Given the description of an element on the screen output the (x, y) to click on. 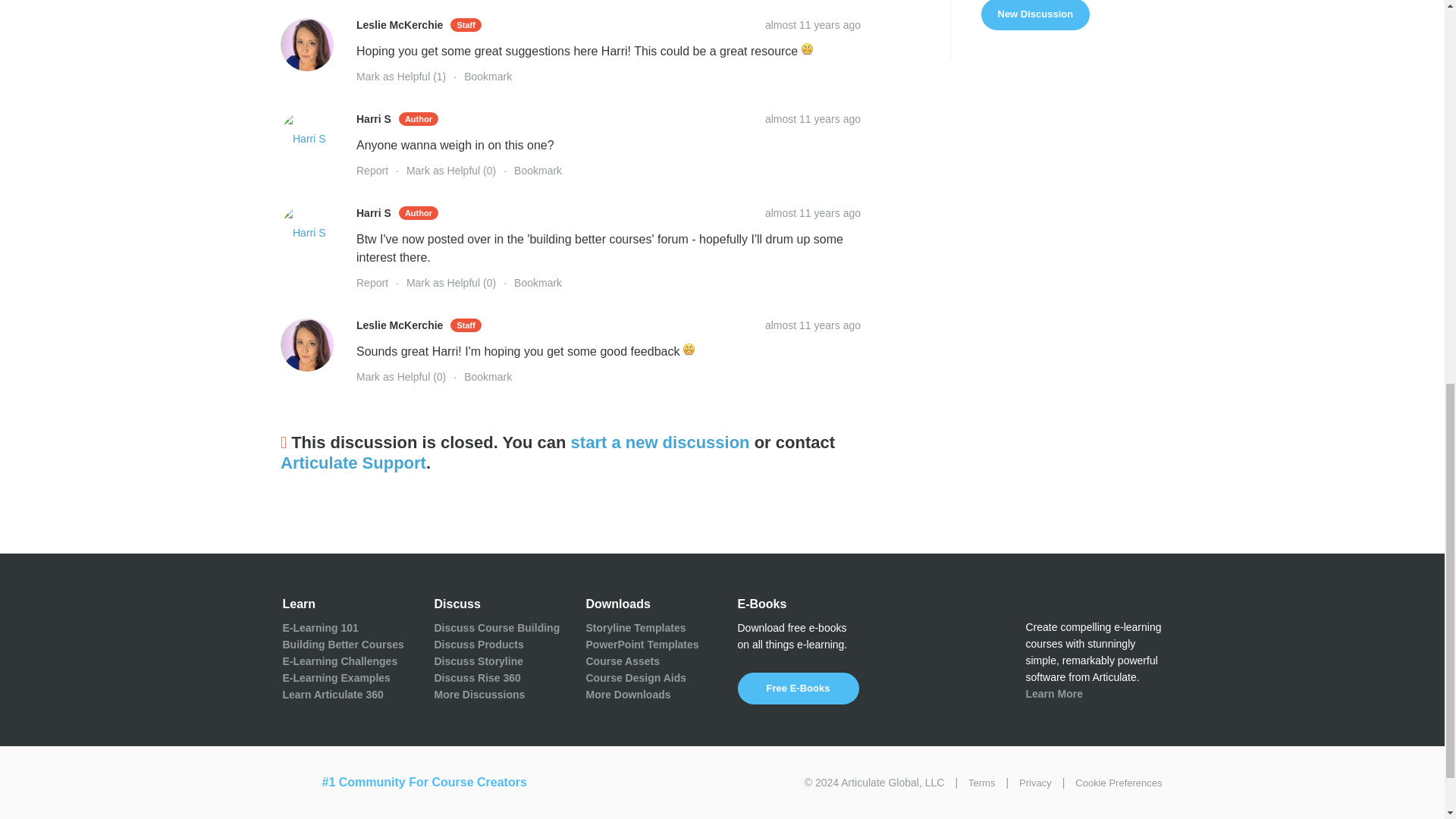
Copy URL to Clipboard (812, 24)
Copy URL to Clipboard (812, 119)
Julia Jones (996, 0)
Copy URL to Clipboard (812, 213)
Leslie McKerchie (307, 44)
Leslie McKerchie (307, 344)
Copy URL to Clipboard (812, 325)
